Given the description of an element on the screen output the (x, y) to click on. 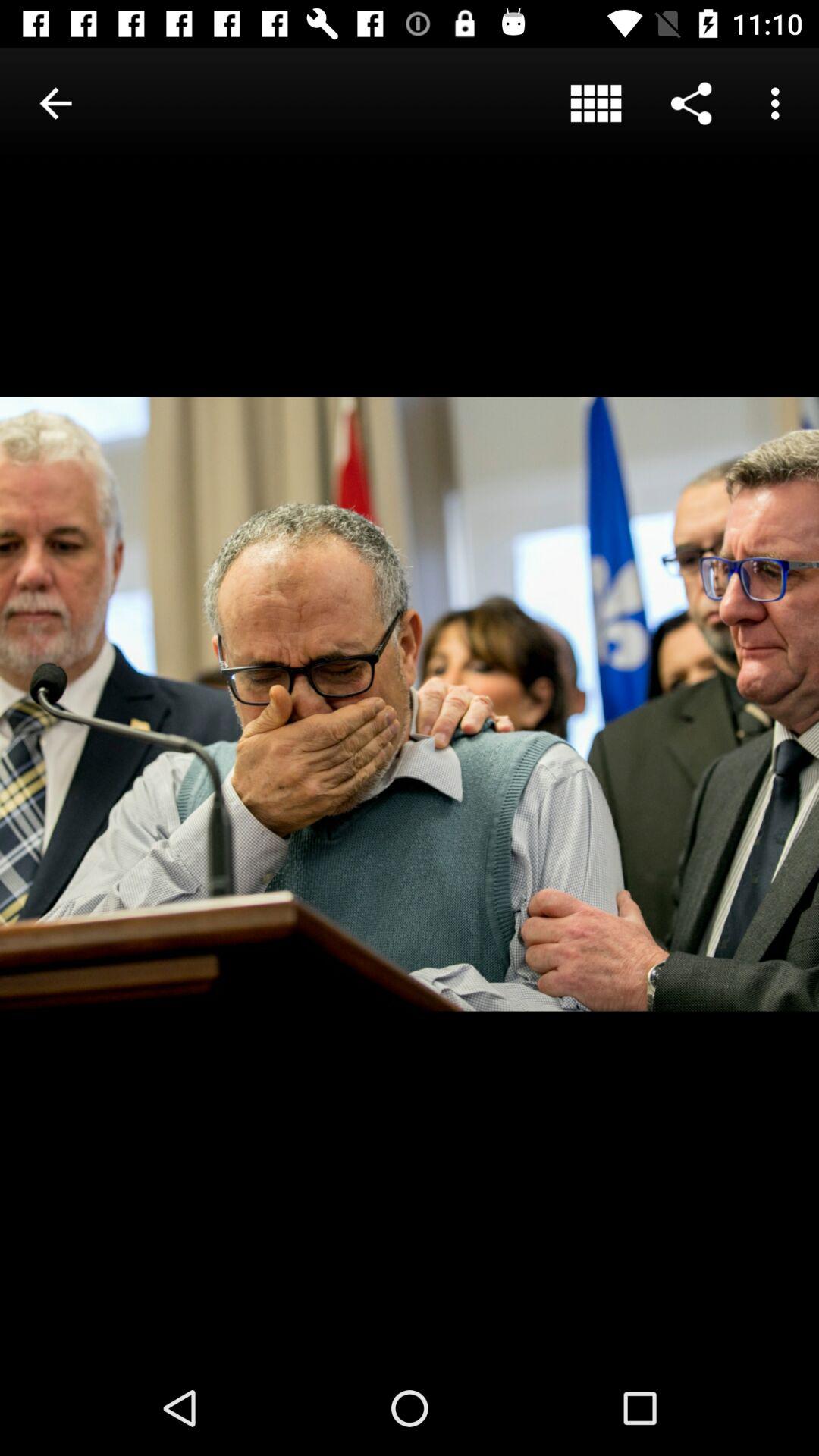
open the icon at the top left corner (55, 103)
